Given the description of an element on the screen output the (x, y) to click on. 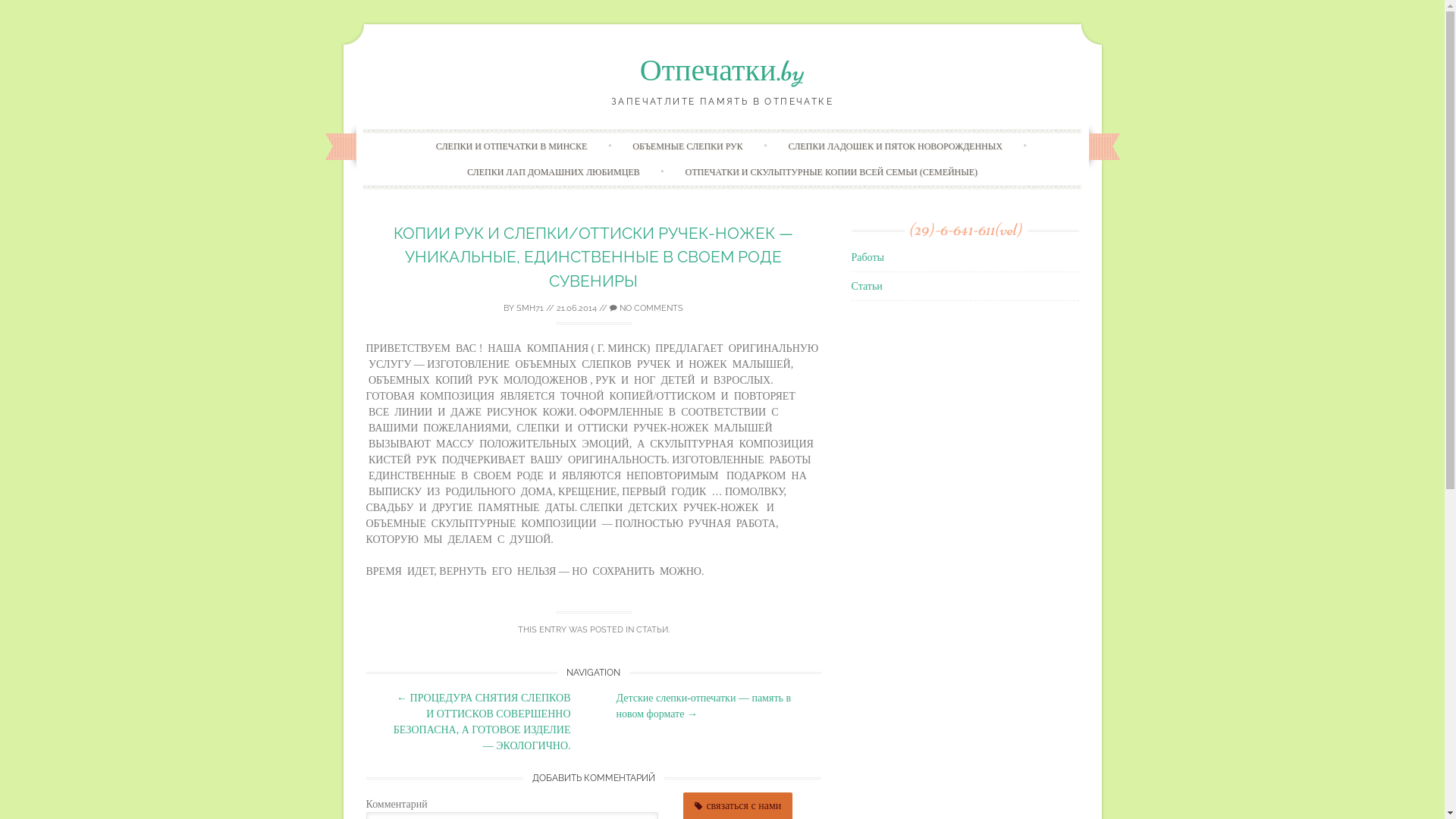
NO COMMENTS Element type: text (646, 308)
SMH71 Element type: text (529, 308)
Skip to content Element type: text (753, 136)
21.06.2014 Element type: text (576, 308)
